Given the description of an element on the screen output the (x, y) to click on. 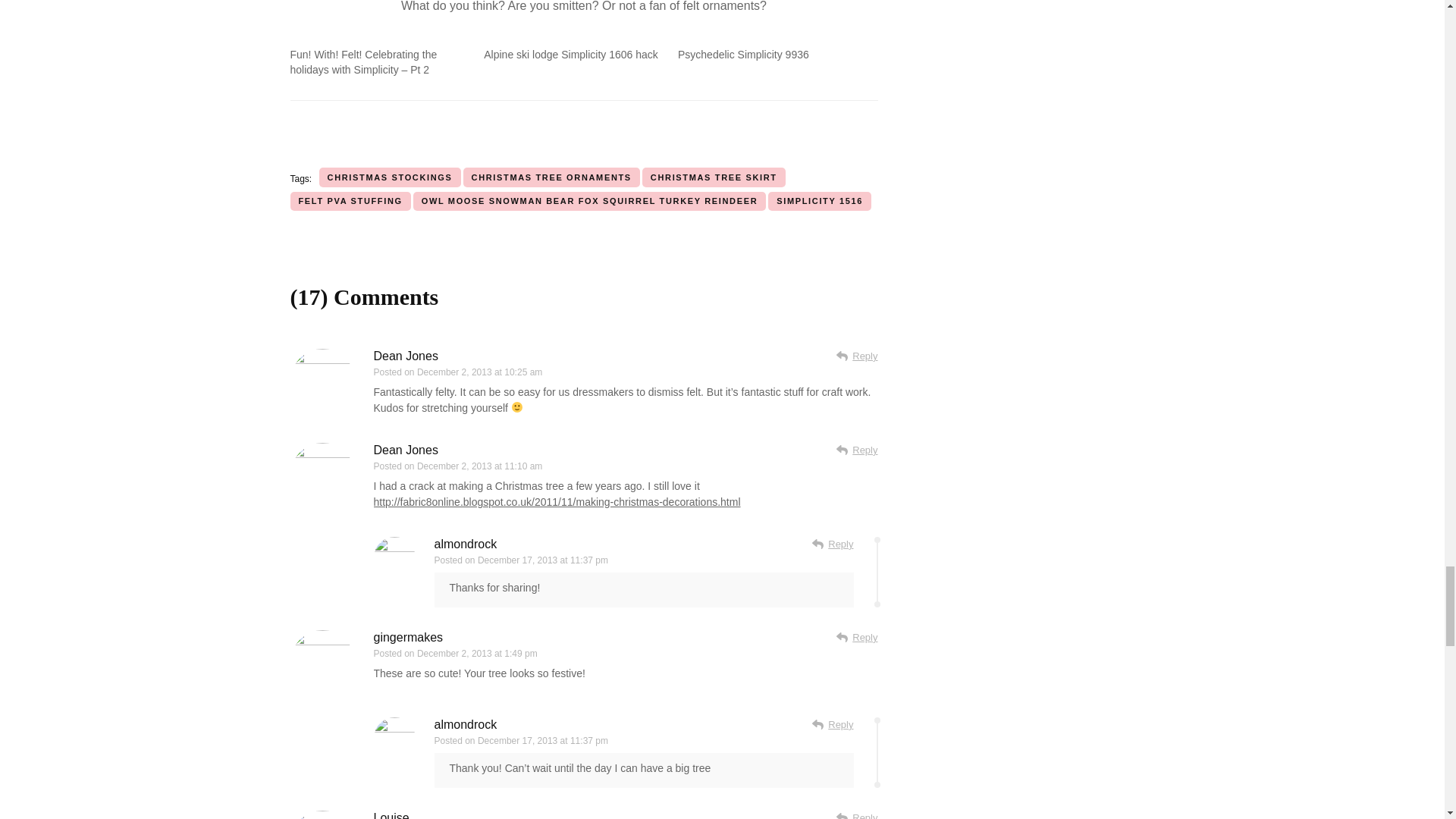
CHRISTMAS TREE SKIRT (714, 176)
Psychedelic Simplicity 9936 (743, 54)
OWL MOOSE SNOWMAN BEAR FOX SQUIRREL TURKEY REINDEER (590, 200)
FELT PVA STUFFING (349, 200)
Alpine ski lodge Simplicity 1606 hack (570, 54)
SIMPLICITY 1516 (819, 200)
Psychedelic Simplicity 9936 (743, 54)
CHRISTMAS STOCKINGS (389, 176)
CHRISTMAS TREE ORNAMENTS (551, 176)
Alpine ski lodge Simplicity 1606 hack (570, 54)
